Given the description of an element on the screen output the (x, y) to click on. 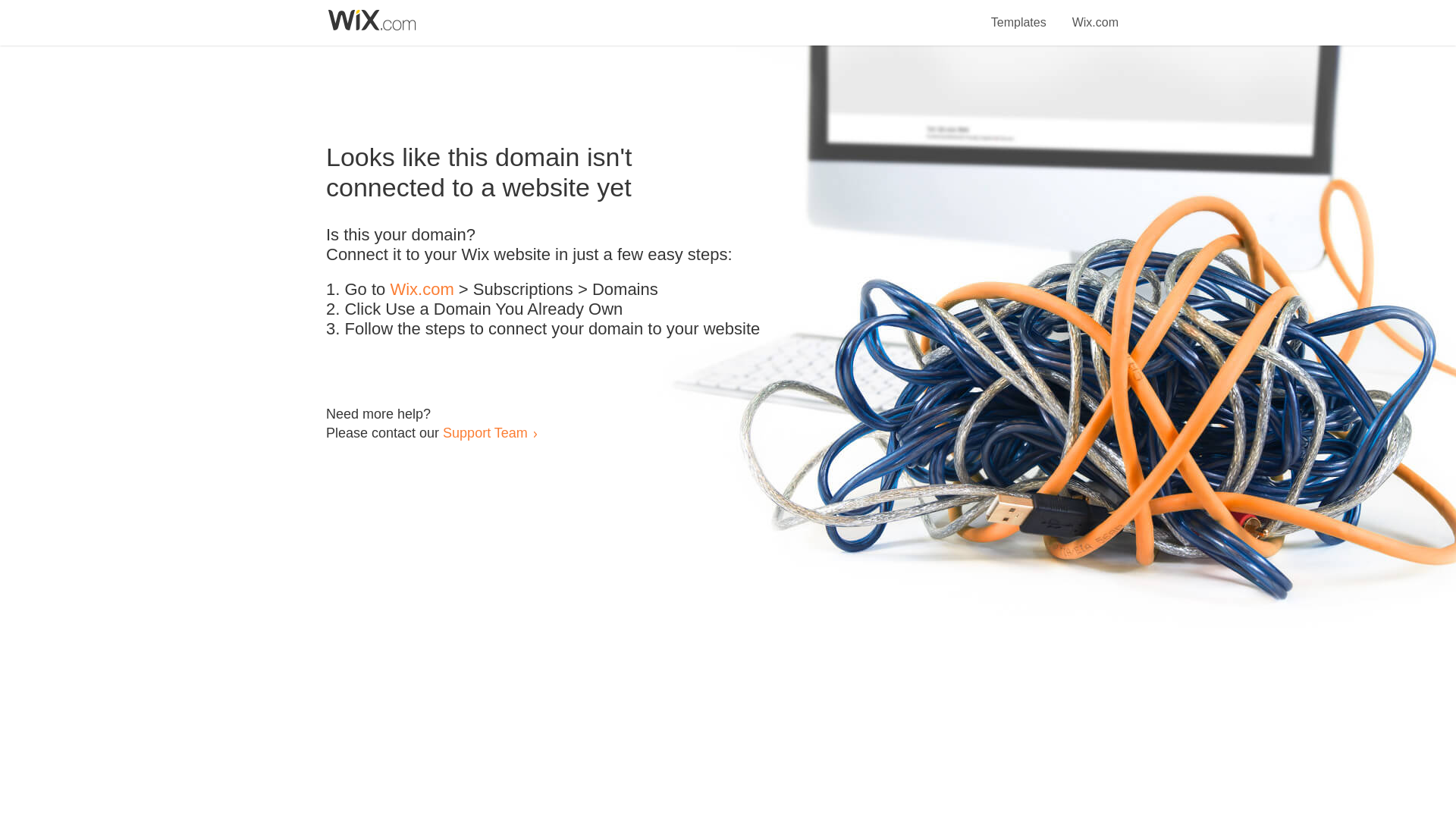
Support Team (484, 432)
Wix.com (421, 289)
Wix.com (1095, 14)
Templates (1018, 14)
